Given the description of an element on the screen output the (x, y) to click on. 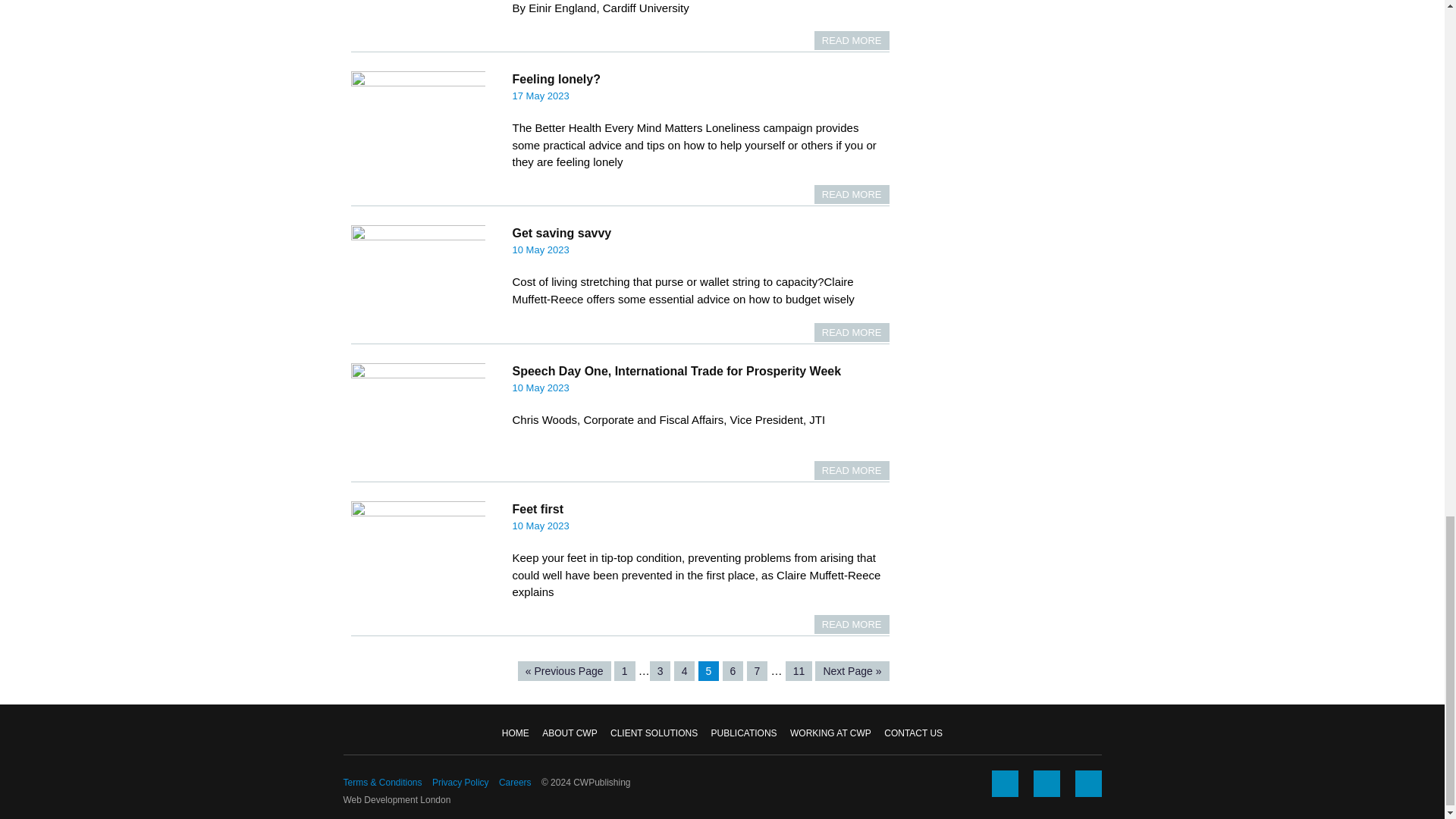
1 (624, 670)
READ MORE (851, 332)
READ MORE (851, 40)
Feeling lonely? (555, 78)
READ MORE (851, 194)
Link to Get saving savvy (561, 232)
Feet first (538, 508)
Link to Feeling lonely? (851, 194)
Get saving savvy (561, 232)
READ MORE (851, 624)
Link to Feeling lonely? (555, 78)
READ MORE (851, 470)
Speech Day One, International Trade for Prosperity Week (676, 370)
